Given the description of an element on the screen output the (x, y) to click on. 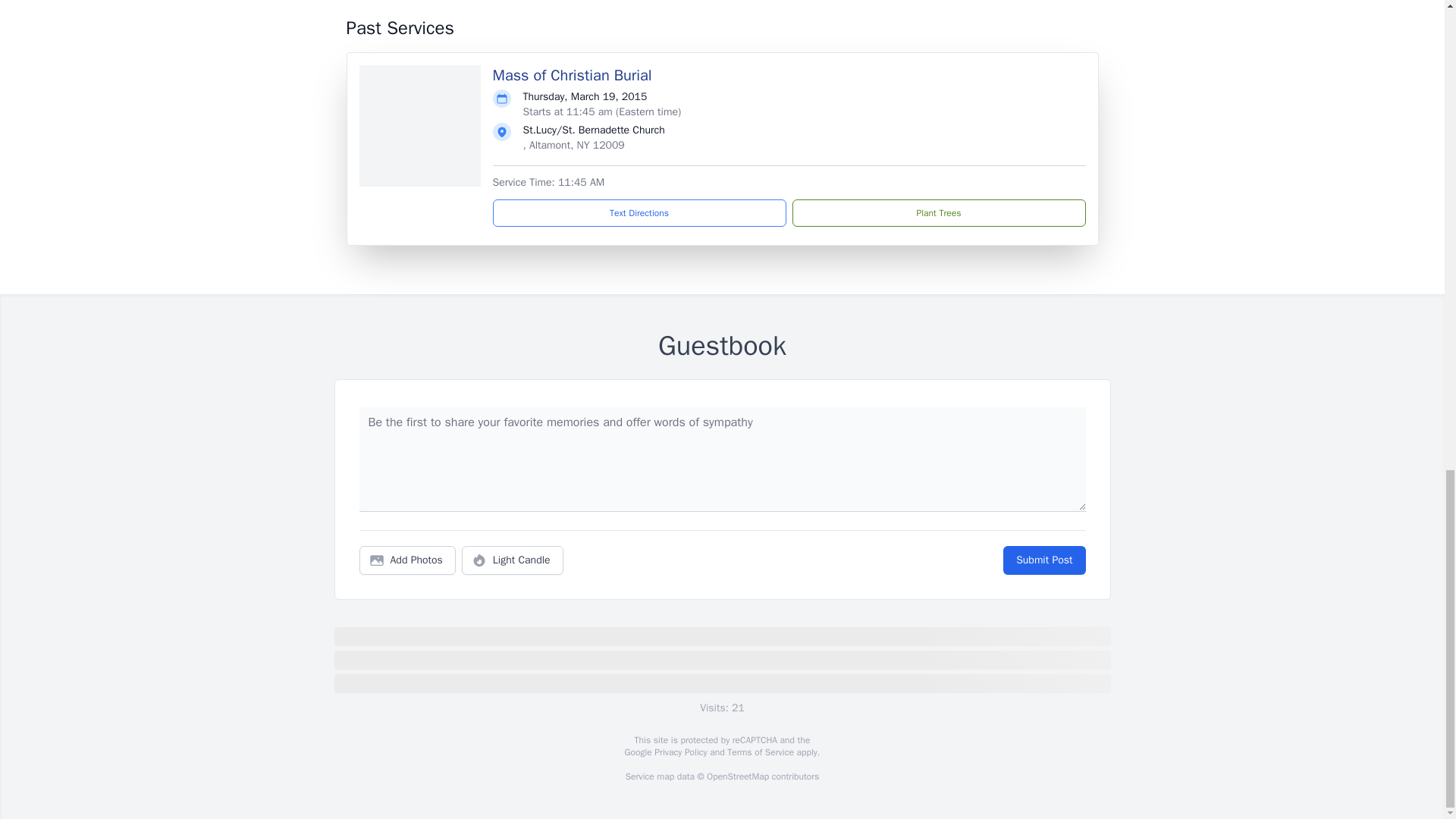
Add Photos (407, 560)
Submit Post (1043, 560)
OpenStreetMap (737, 776)
Light Candle (512, 560)
, Altamont, NY 12009 (573, 144)
Text Directions (639, 212)
Privacy Policy (679, 752)
Plant Trees (938, 212)
Terms of Service (759, 752)
